Given the description of an element on the screen output the (x, y) to click on. 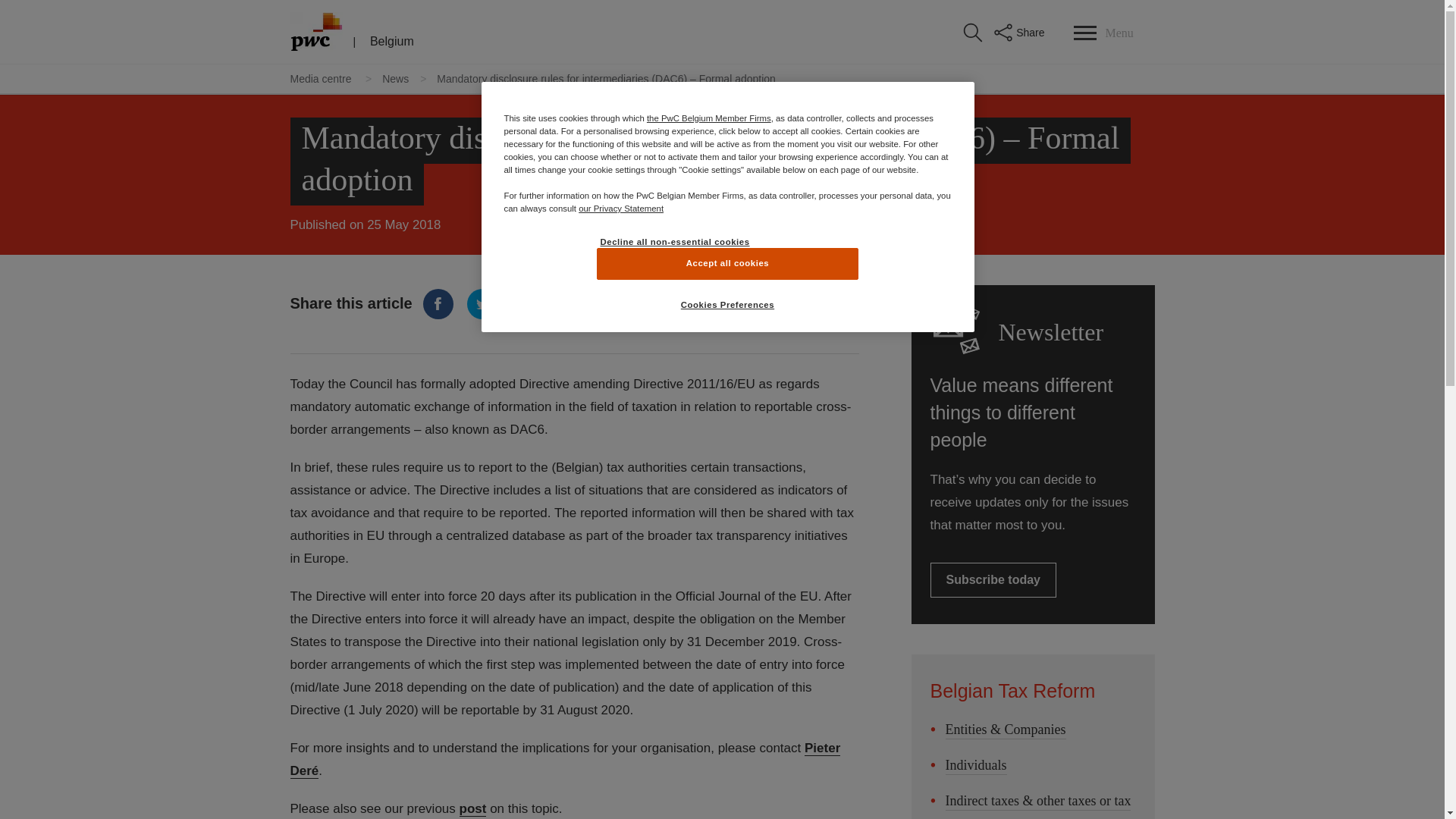
Menu (1103, 32)
PwC (315, 31)
Share (1017, 32)
Belgium (391, 41)
